Given the description of an element on the screen output the (x, y) to click on. 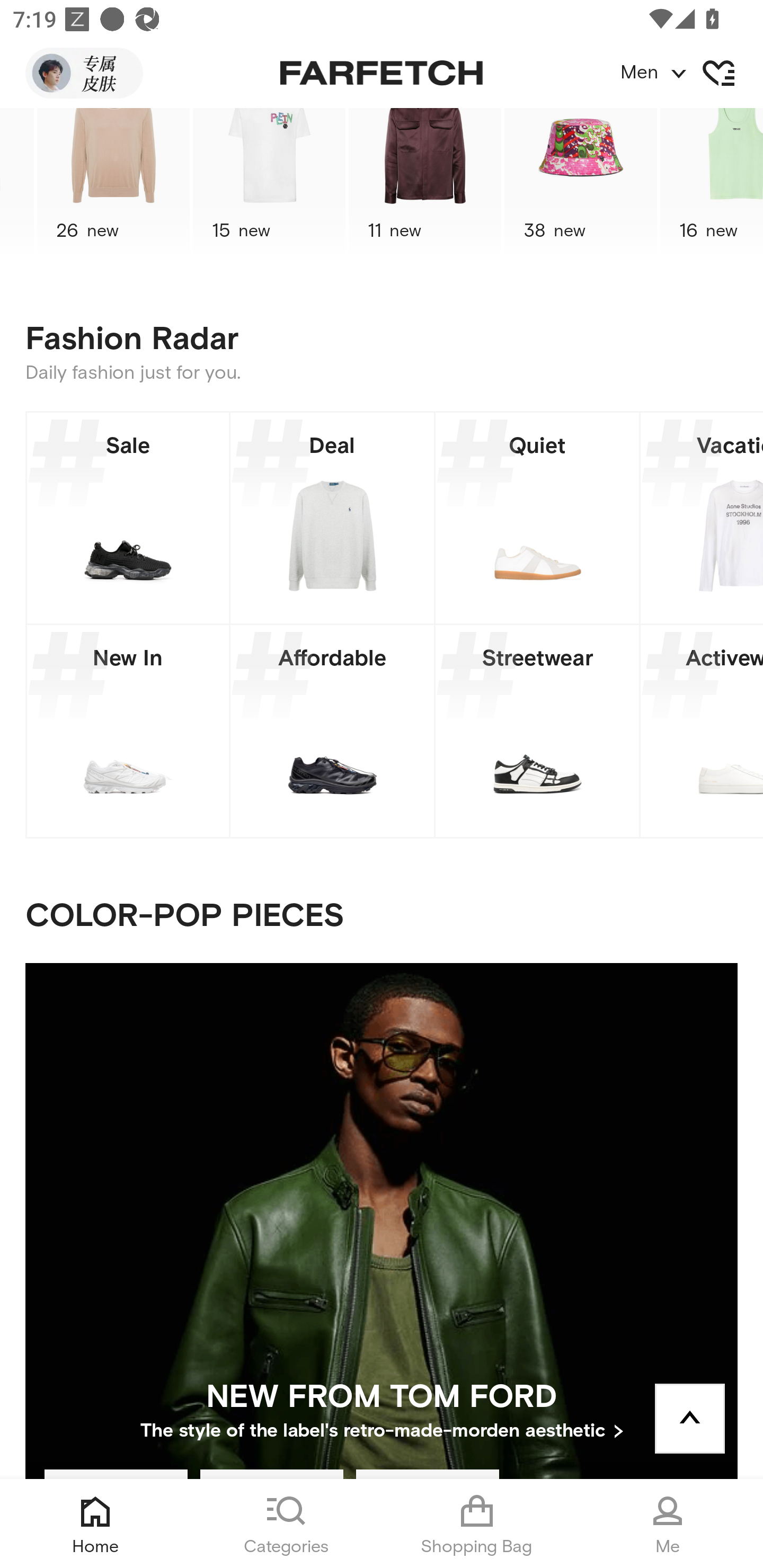
Men (691, 72)
Brunello Cucinelli 26  new (113, 184)
Philipp Plein 15  new (269, 184)
Jil Sander 11  new (424, 184)
Dsquared2 38  new (580, 184)
Versace 16  new (711, 184)
Sale (127, 518)
Deal (332, 518)
Quiet (537, 518)
Vacation (701, 518)
New In (127, 731)
Affordable (332, 731)
Streetwear (537, 731)
Activewear (701, 731)
Categories (285, 1523)
Shopping Bag (476, 1523)
Me (667, 1523)
